Given the description of an element on the screen output the (x, y) to click on. 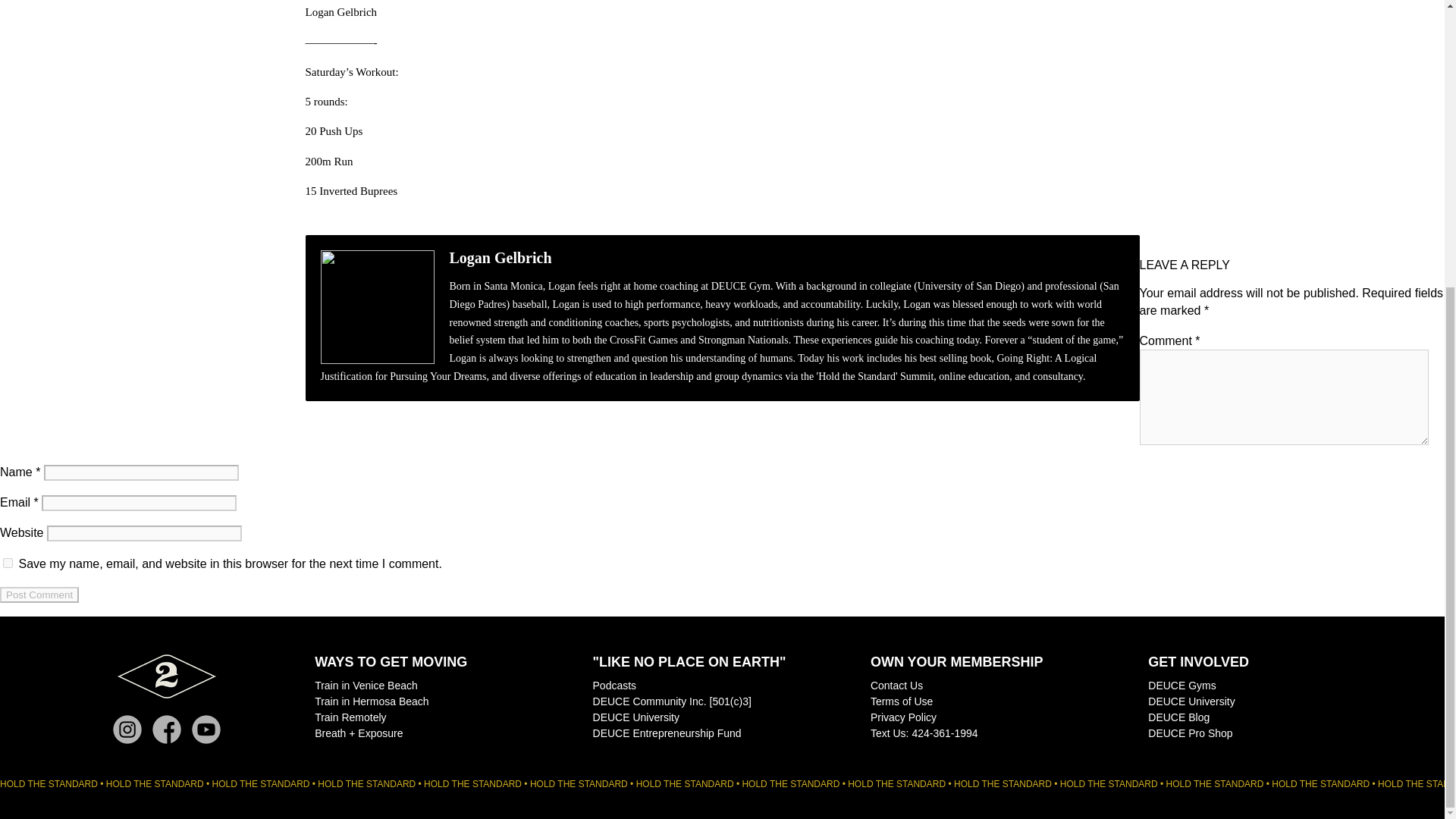
Post Comment (39, 594)
Podcasts (614, 685)
DEUCE University (635, 717)
yes (7, 562)
Train in Hermosa Beach (371, 701)
Train Remotely (349, 717)
Post Comment (39, 594)
Train in Venice Beach (365, 685)
